Given the description of an element on the screen output the (x, y) to click on. 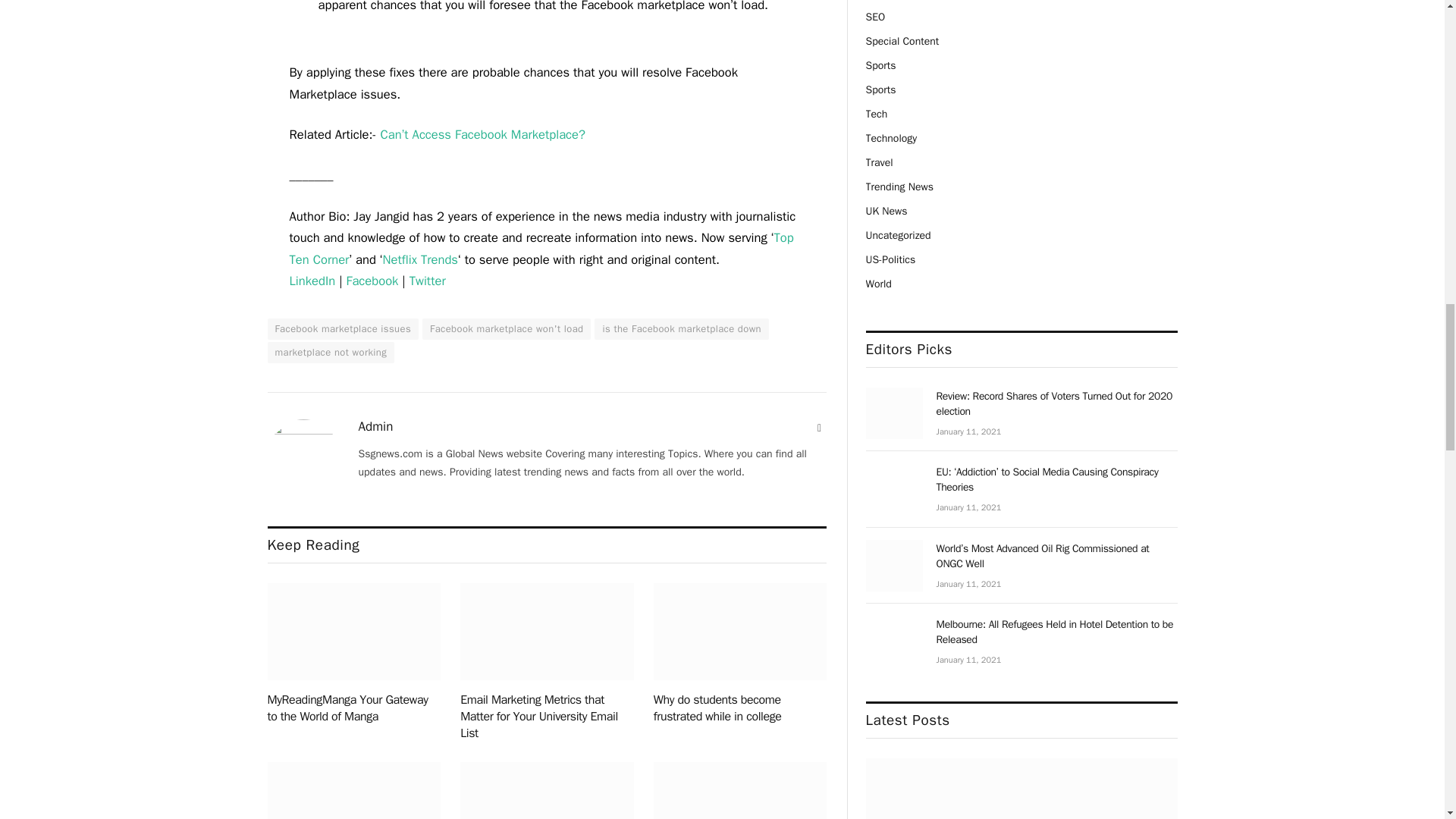
Posts by Admin (375, 426)
